Given the description of an element on the screen output the (x, y) to click on. 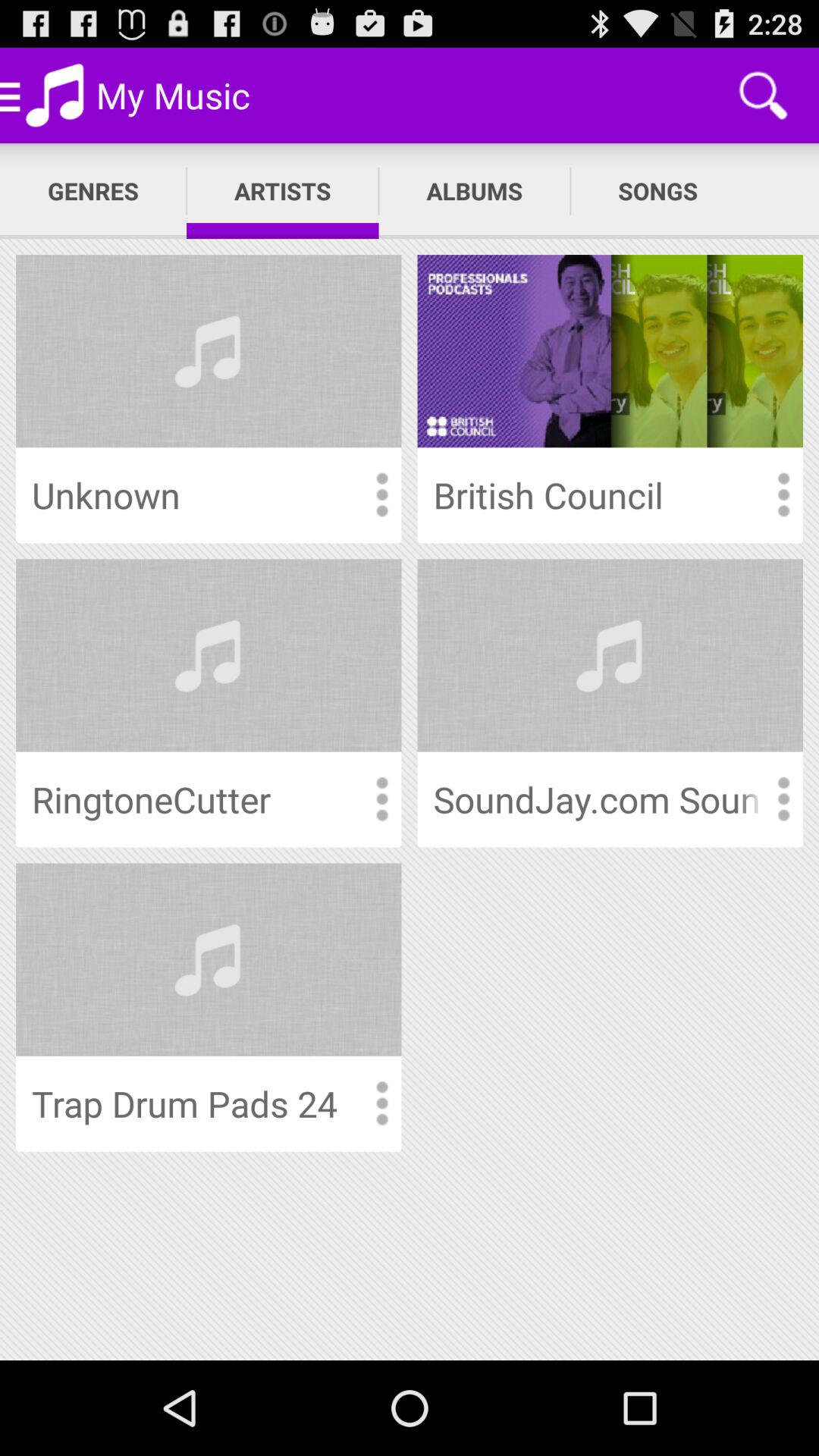
swipe until the songs app (657, 190)
